Given the description of an element on the screen output the (x, y) to click on. 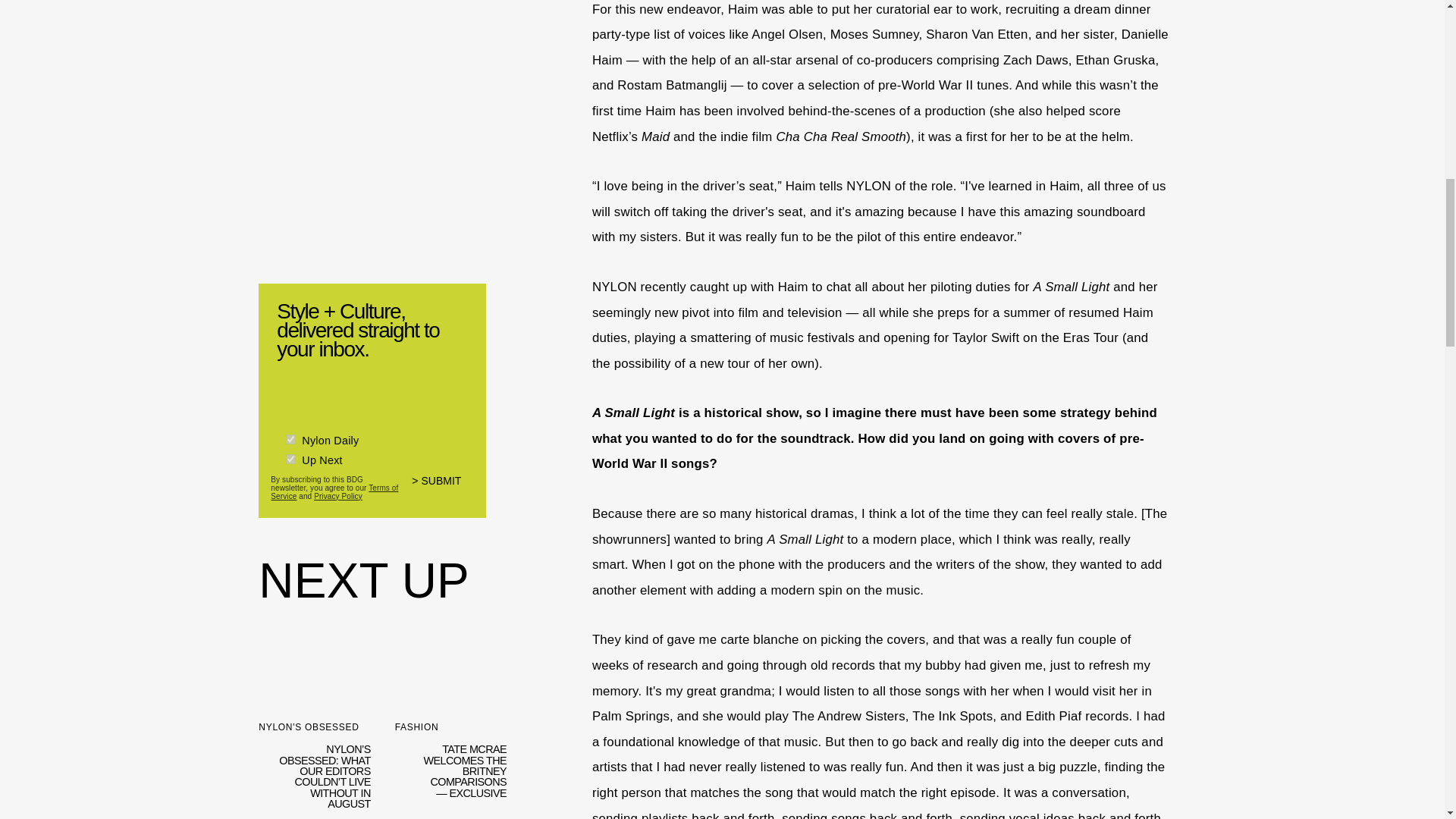
Terms of Service (333, 490)
SUBMIT (443, 486)
Privacy Policy (338, 494)
